Given the description of an element on the screen output the (x, y) to click on. 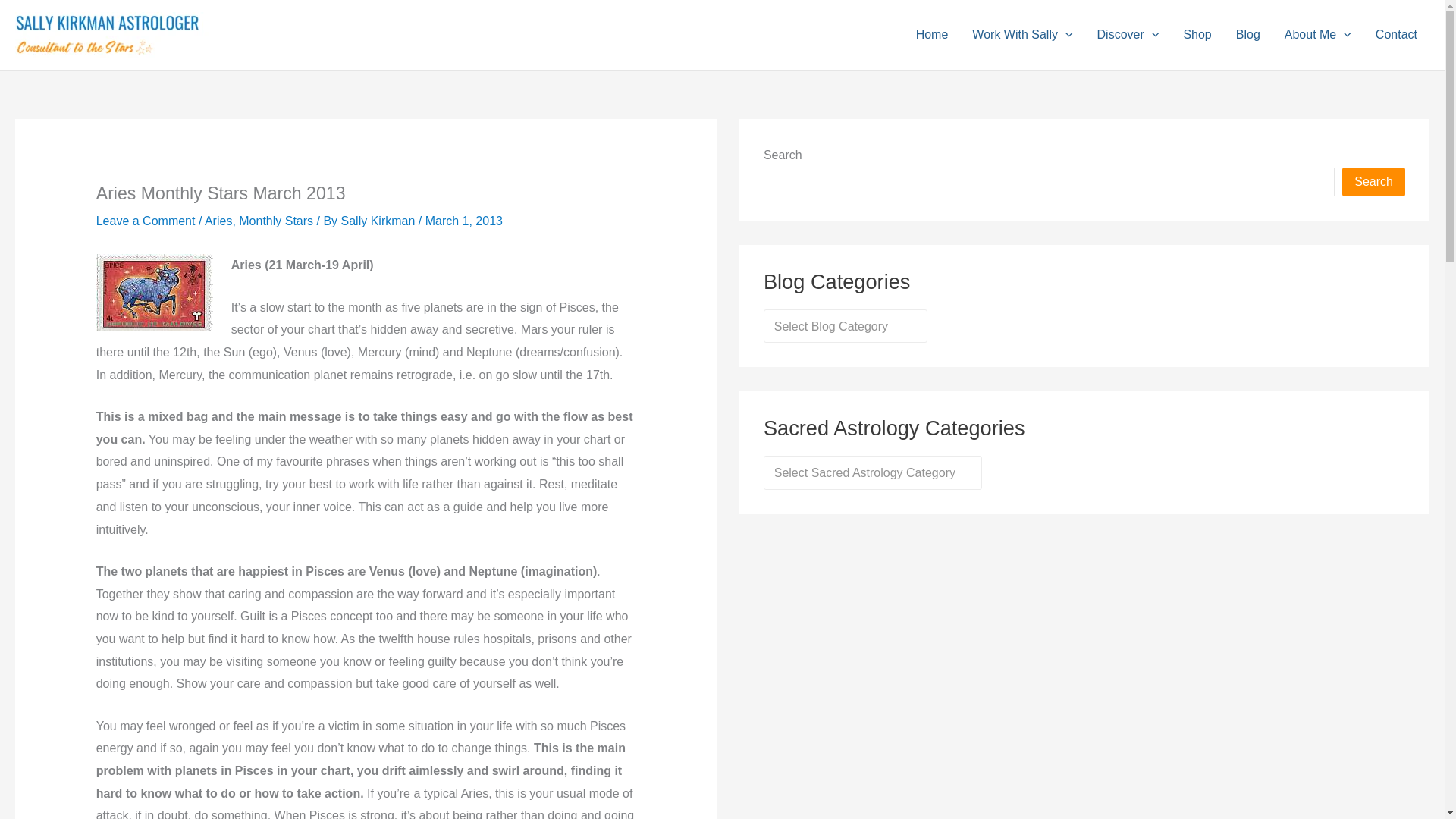
Shop (1196, 34)
About Me (1317, 34)
Discover (1128, 34)
Home (932, 34)
Blog (1248, 34)
Contact (1395, 34)
View all posts by Sally Kirkman (379, 220)
Work With Sally (1021, 34)
